Given the description of an element on the screen output the (x, y) to click on. 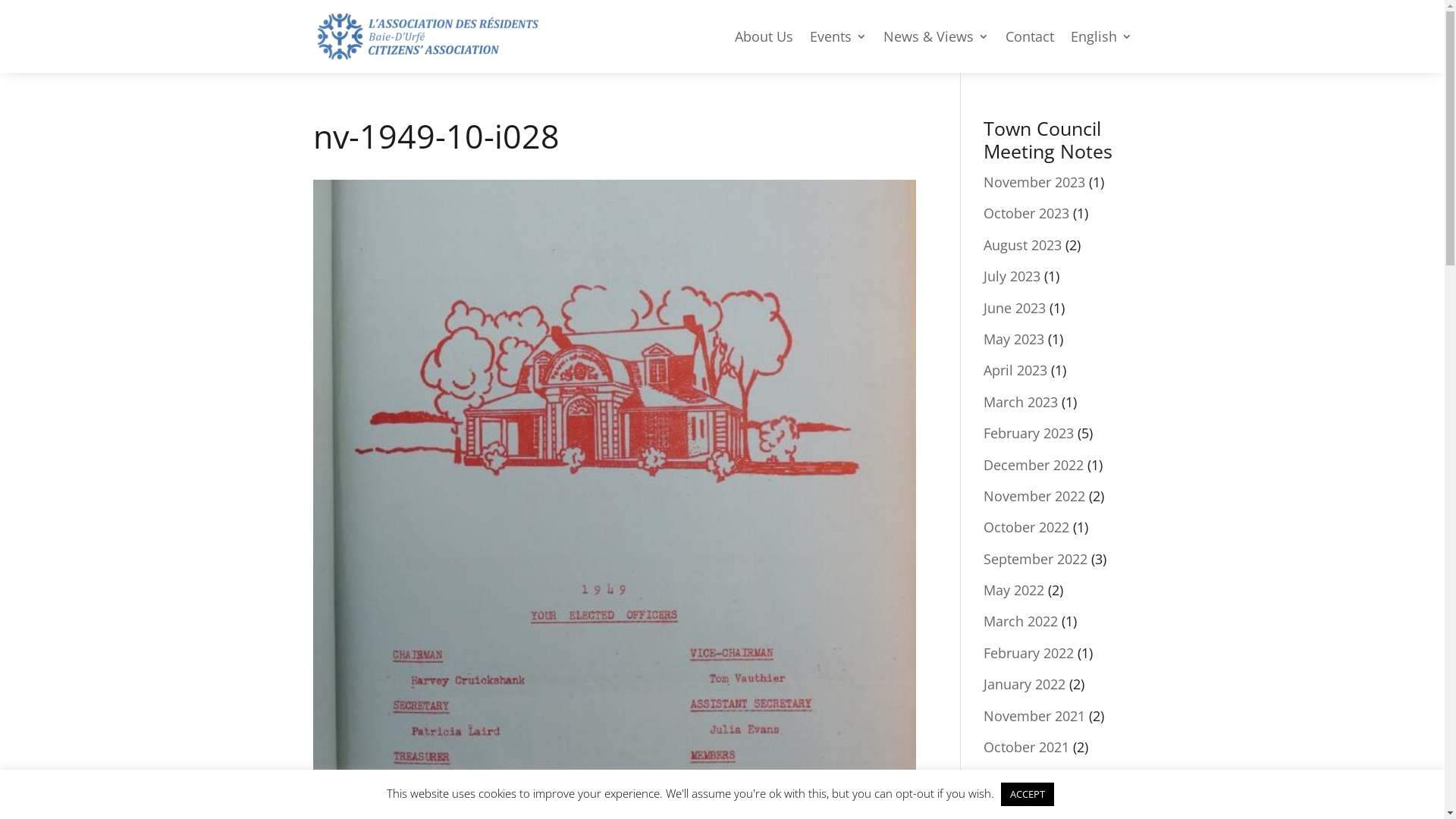
November 2022 Element type: text (1034, 495)
March 2022 Element type: text (1020, 620)
November 2021 Element type: text (1034, 715)
February 2022 Element type: text (1028, 652)
May 2023 Element type: text (1013, 338)
June 2023 Element type: text (1014, 307)
October 2022 Element type: text (1026, 526)
December 2022 Element type: text (1033, 464)
English Element type: text (1101, 36)
August 2023 Element type: text (1022, 244)
About Us Element type: text (763, 36)
October 2021 Element type: text (1026, 746)
May 2022 Element type: text (1013, 589)
January 2022 Element type: text (1024, 683)
Events Element type: text (837, 36)
Contact Element type: text (1029, 36)
September 2022 Element type: text (1035, 558)
October 2023 Element type: text (1026, 212)
ACCEPT Element type: text (1027, 794)
August 2021 Element type: text (1022, 777)
November 2023 Element type: text (1034, 181)
July 2023 Element type: text (1011, 275)
April 2023 Element type: text (1015, 369)
March 2023 Element type: text (1020, 401)
February 2023 Element type: text (1028, 432)
News & Views Element type: text (935, 36)
